Given the description of an element on the screen output the (x, y) to click on. 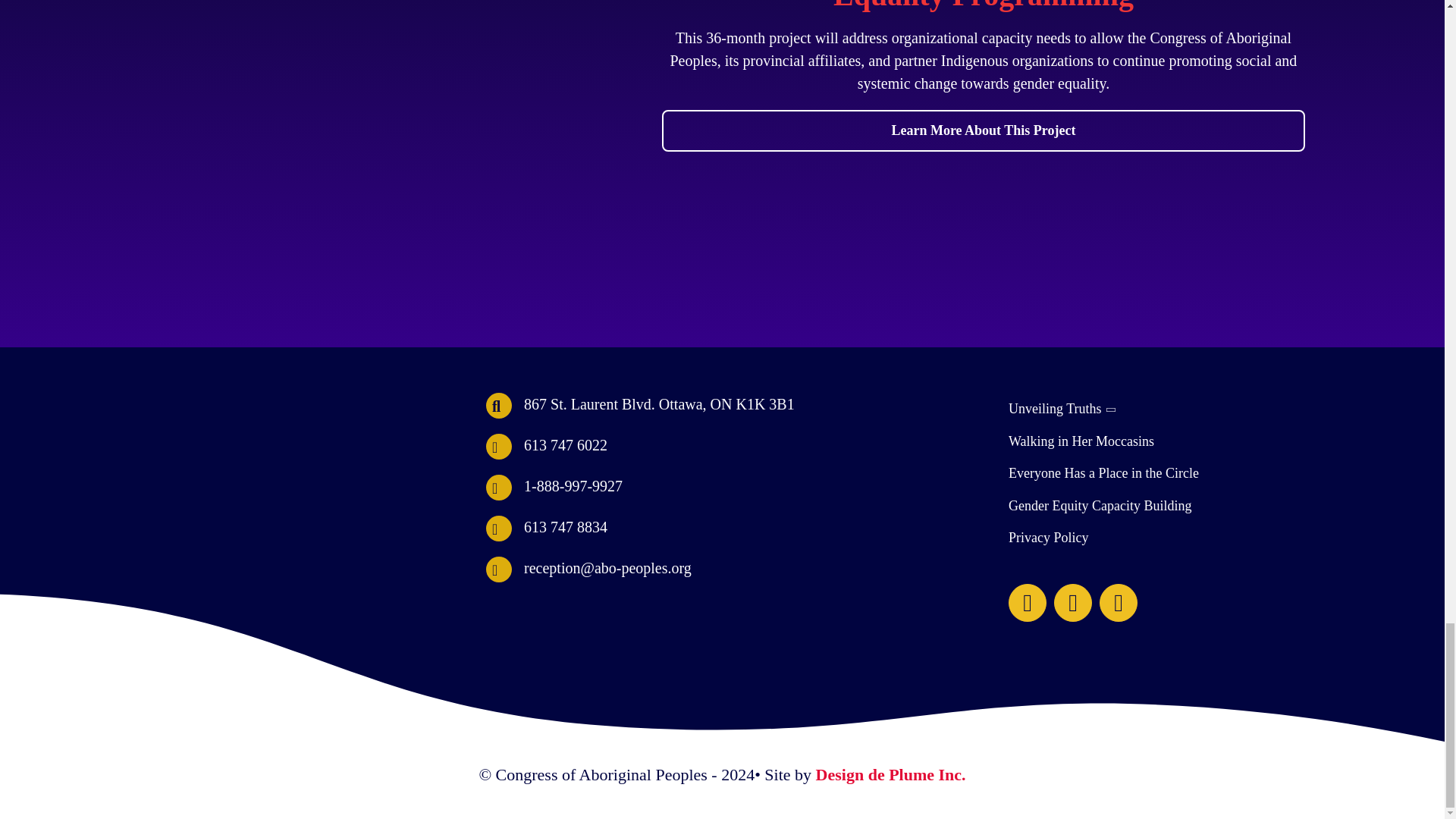
Twitter (1073, 602)
Facebook (1027, 602)
LinkedIn (1118, 602)
